Given the description of an element on the screen output the (x, y) to click on. 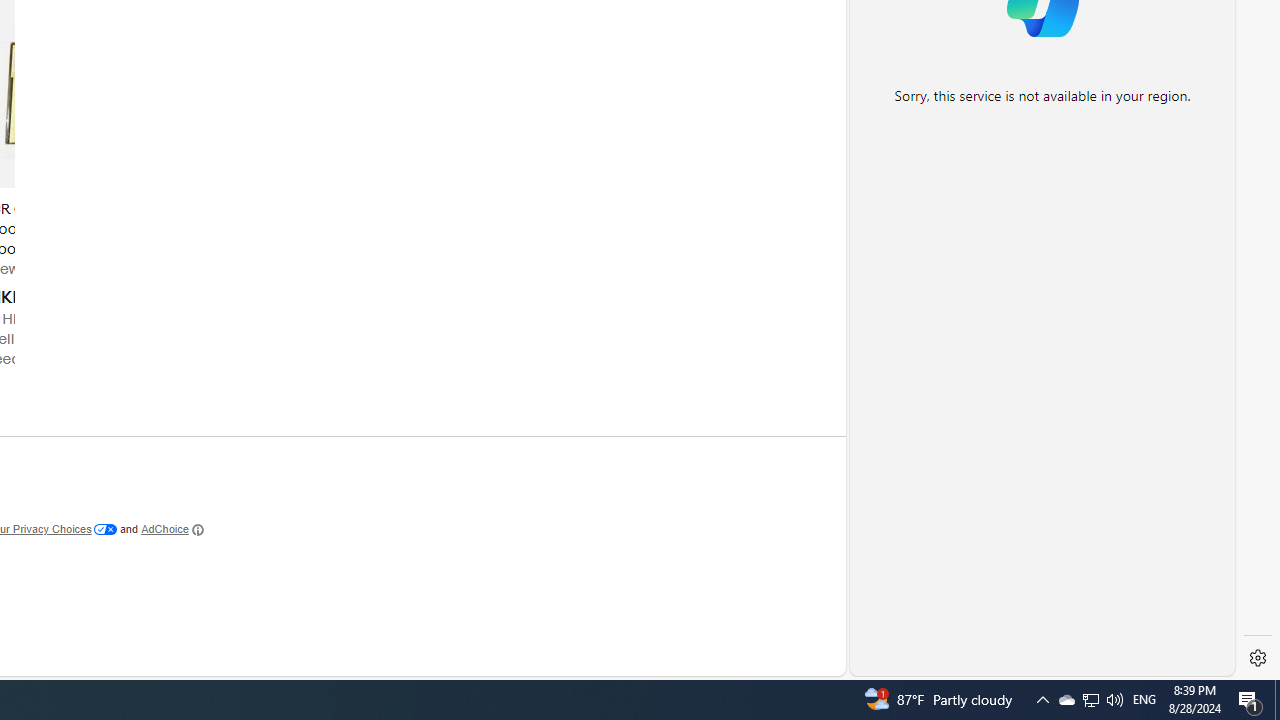
Settings (1258, 658)
AdChoice (171, 529)
